Given the description of an element on the screen output the (x, y) to click on. 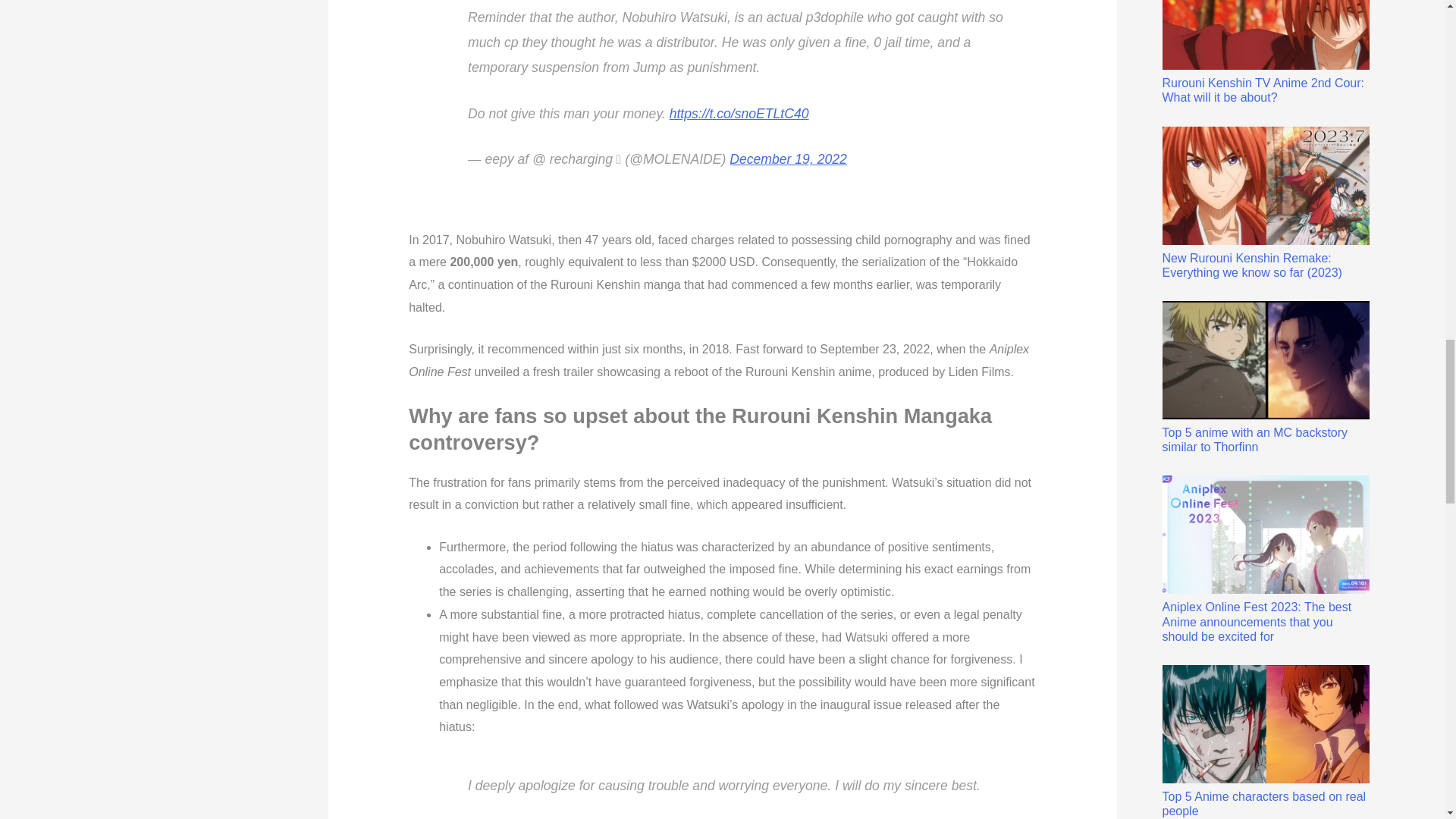
Top 5 Anime characters based on real people (1264, 741)
Top 5 anime with an MC backstory similar to Thorfinn (1264, 377)
Rurouni Kenshin TV Anime 2nd Cour: What will it be about? (1264, 52)
December 19, 2022 (788, 159)
